Given the description of an element on the screen output the (x, y) to click on. 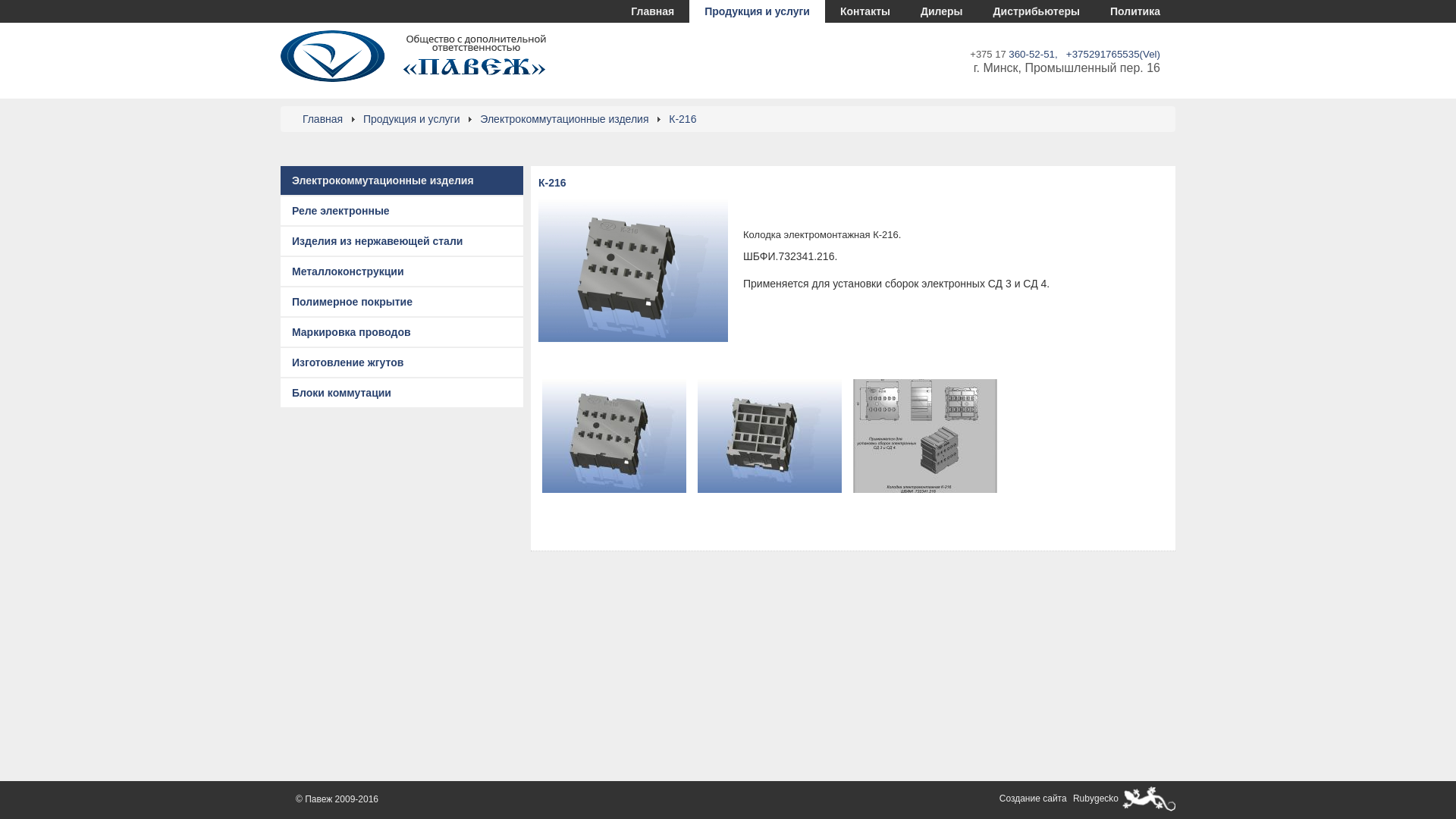
Click to enlarge image 04.-216.jpg Element type: hover (614, 435)
Click to enlarge image 04.-216_2.jpg Element type: hover (925, 435)
Click to enlarge image 04.-216_1.jpg Element type: hover (769, 435)
Rubygecko Element type: text (1093, 798)
